Given the description of an element on the screen output the (x, y) to click on. 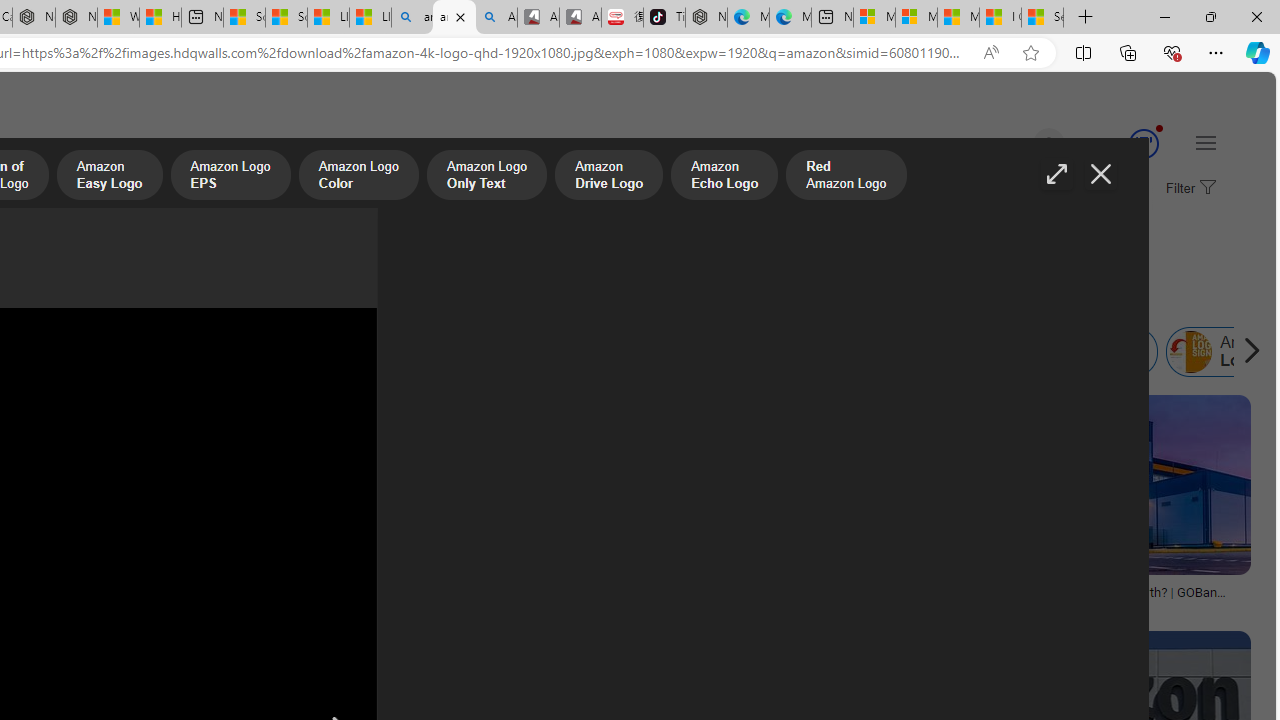
downdetector.ae (128, 605)
I Gained 20 Pounds of Muscle in 30 Days! | Watch (1000, 17)
Amazon Egypt (942, 351)
Amazon Prime Membership (128, 351)
downdetector.ae (233, 606)
Amazon Drive Logo (608, 177)
theverge.com (449, 605)
Amazon Logo Only Text (486, 177)
Nordace - Summer Adventures 2024 (76, 17)
GOBankingRates (1023, 605)
